Given the description of an element on the screen output the (x, y) to click on. 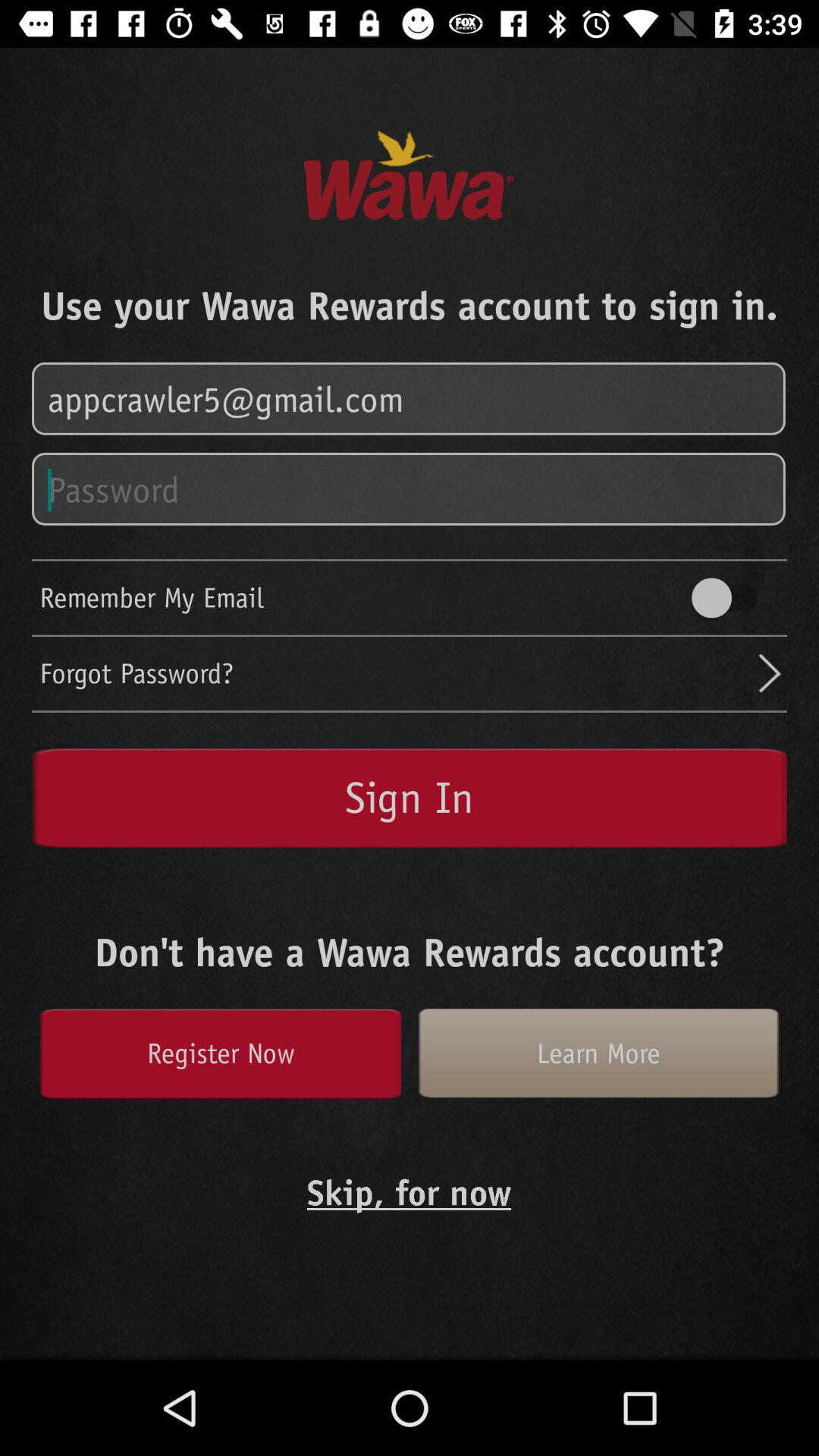
press icon next to learn more icon (220, 1053)
